Given the description of an element on the screen output the (x, y) to click on. 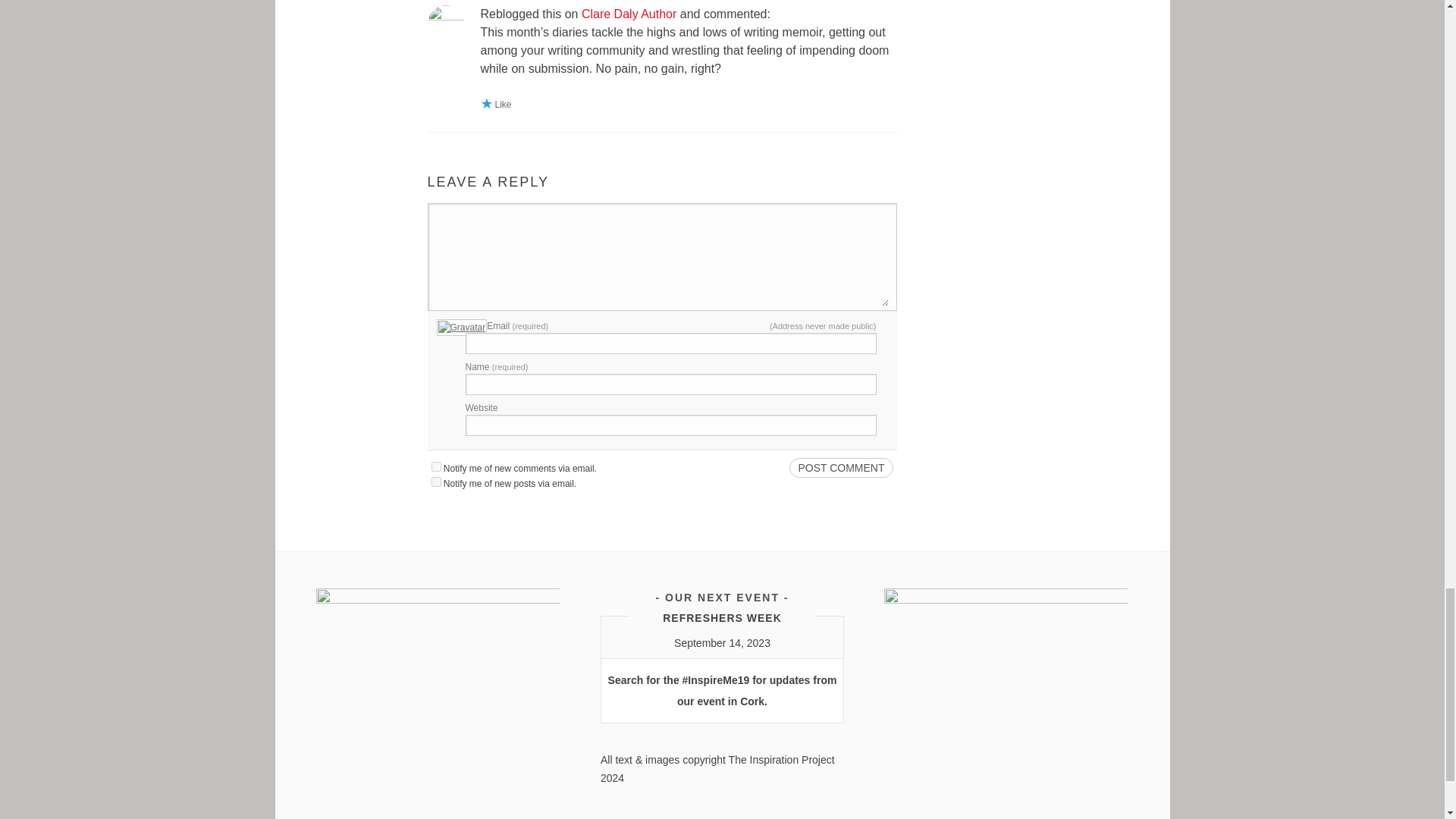
Post Comment (840, 467)
subscribe (435, 481)
Clare Daly Author (628, 13)
Enter your comment here... (661, 258)
Post Comment (840, 467)
subscribe (435, 466)
